Given the description of an element on the screen output the (x, y) to click on. 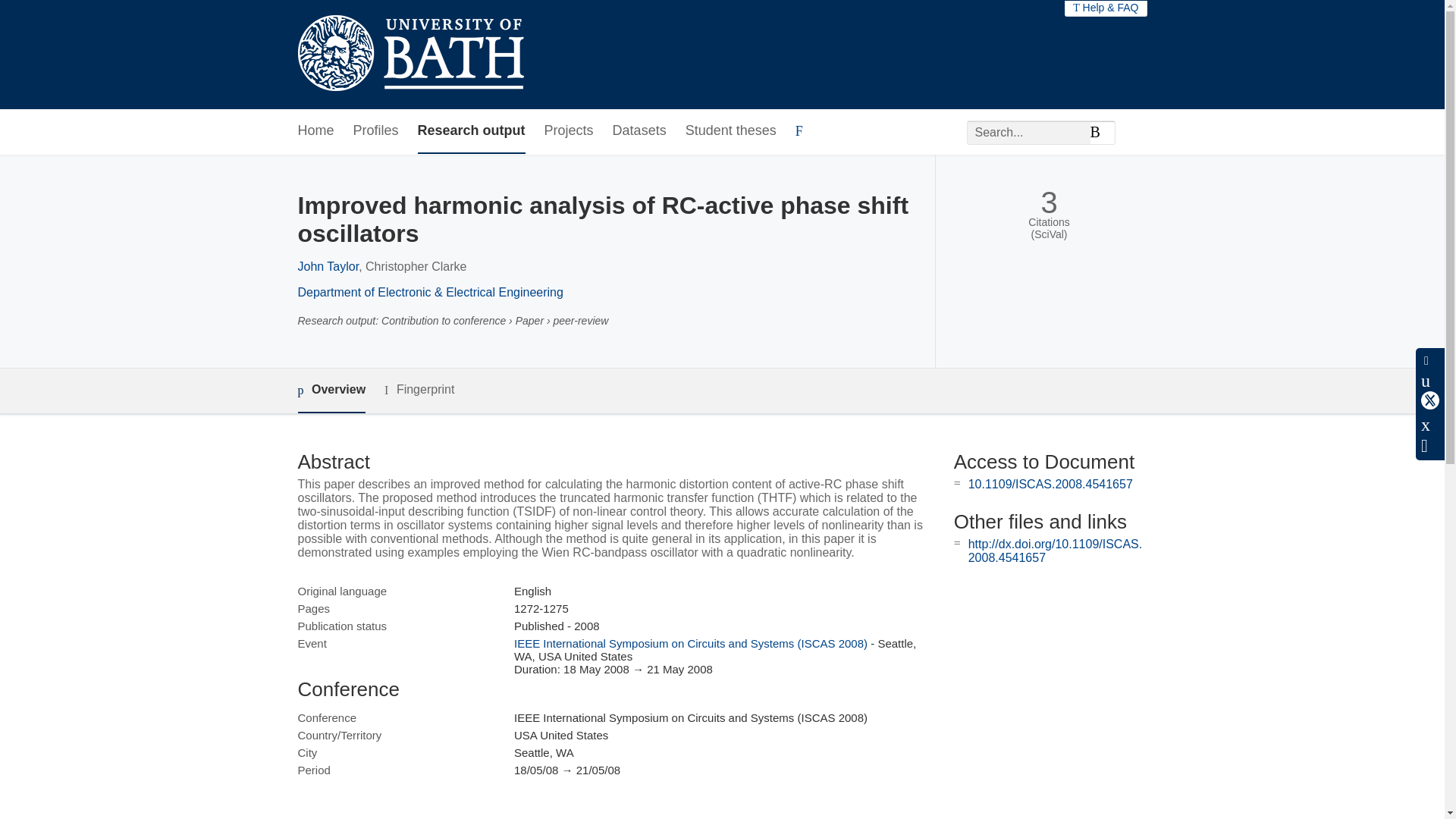
the University of Bath's research portal Home (409, 54)
Student theses (730, 130)
Fingerprint (419, 389)
Datasets (639, 130)
Projects (569, 130)
Profiles (375, 130)
Research output (471, 130)
Overview (331, 390)
John Taylor (327, 266)
